Given the description of an element on the screen output the (x, y) to click on. 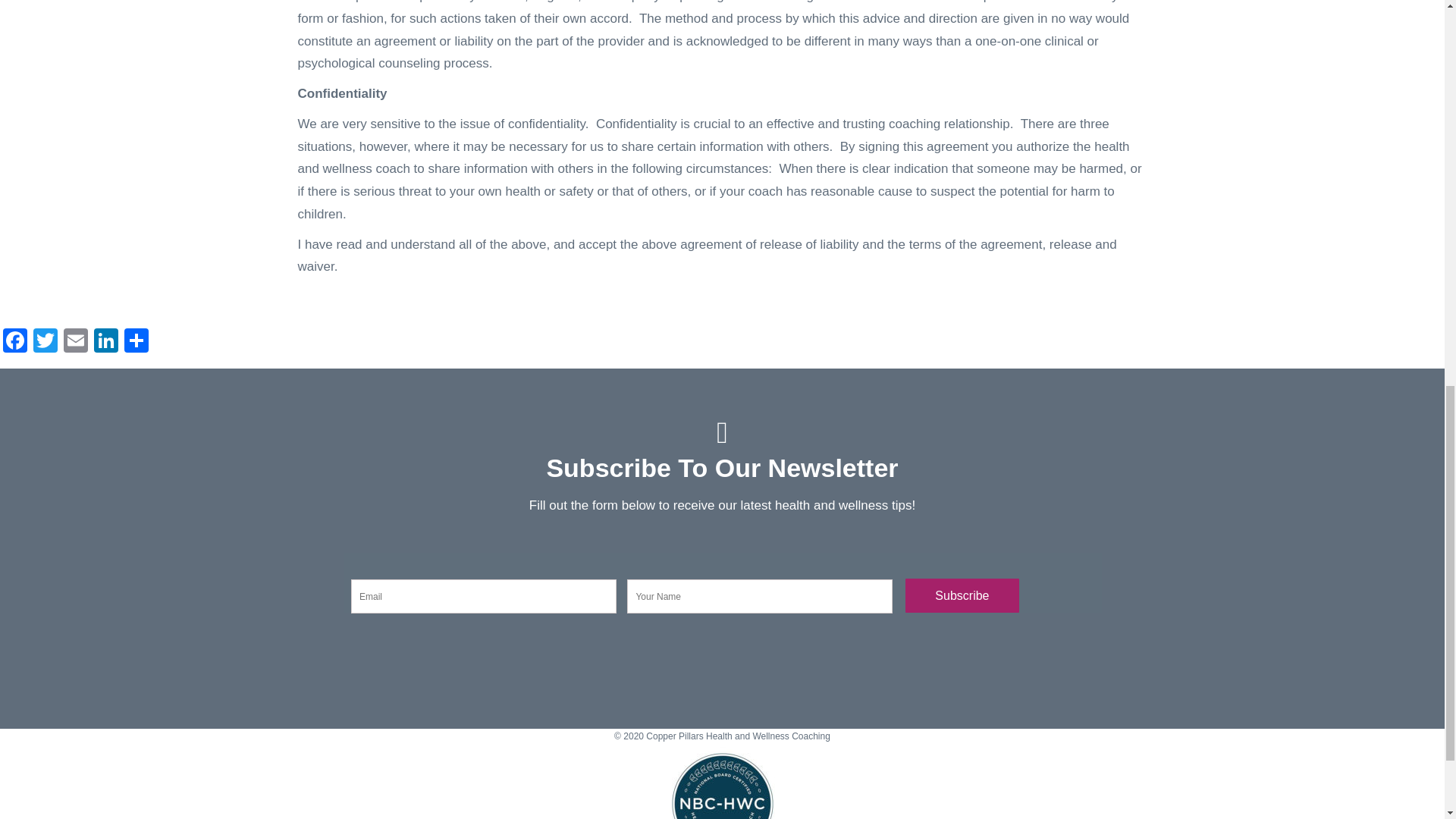
LinkedIn (105, 342)
Facebook (15, 342)
nbc-hwc-logo (721, 782)
LinkedIn (105, 342)
Email (75, 342)
Twitter (45, 342)
Email (75, 342)
Twitter (45, 342)
Facebook (15, 342)
